Given the description of an element on the screen output the (x, y) to click on. 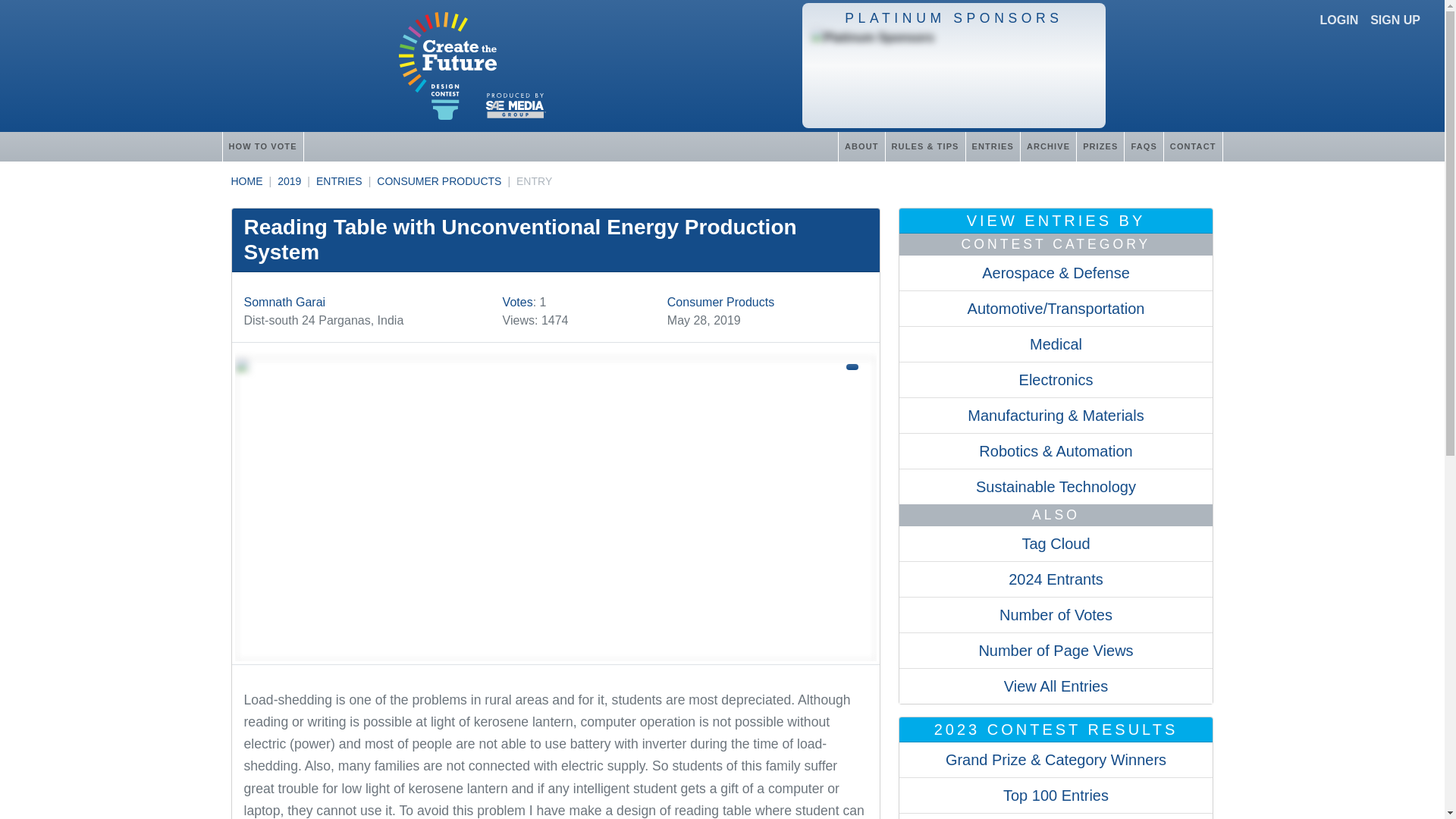
HOW TO VOTE (261, 146)
Consumer Products (720, 301)
ABOUT (861, 146)
SIGN UP (1395, 20)
HOME (246, 181)
Votes (517, 301)
CONSUMER PRODUCTS (438, 181)
Somnath Garai (285, 301)
2019 (289, 181)
ENTRIES (338, 181)
ARCHIVE (1047, 146)
CONTACT (1193, 146)
FAQS (1142, 146)
LOGIN (1339, 20)
ENTRIES (992, 146)
